Given the description of an element on the screen output the (x, y) to click on. 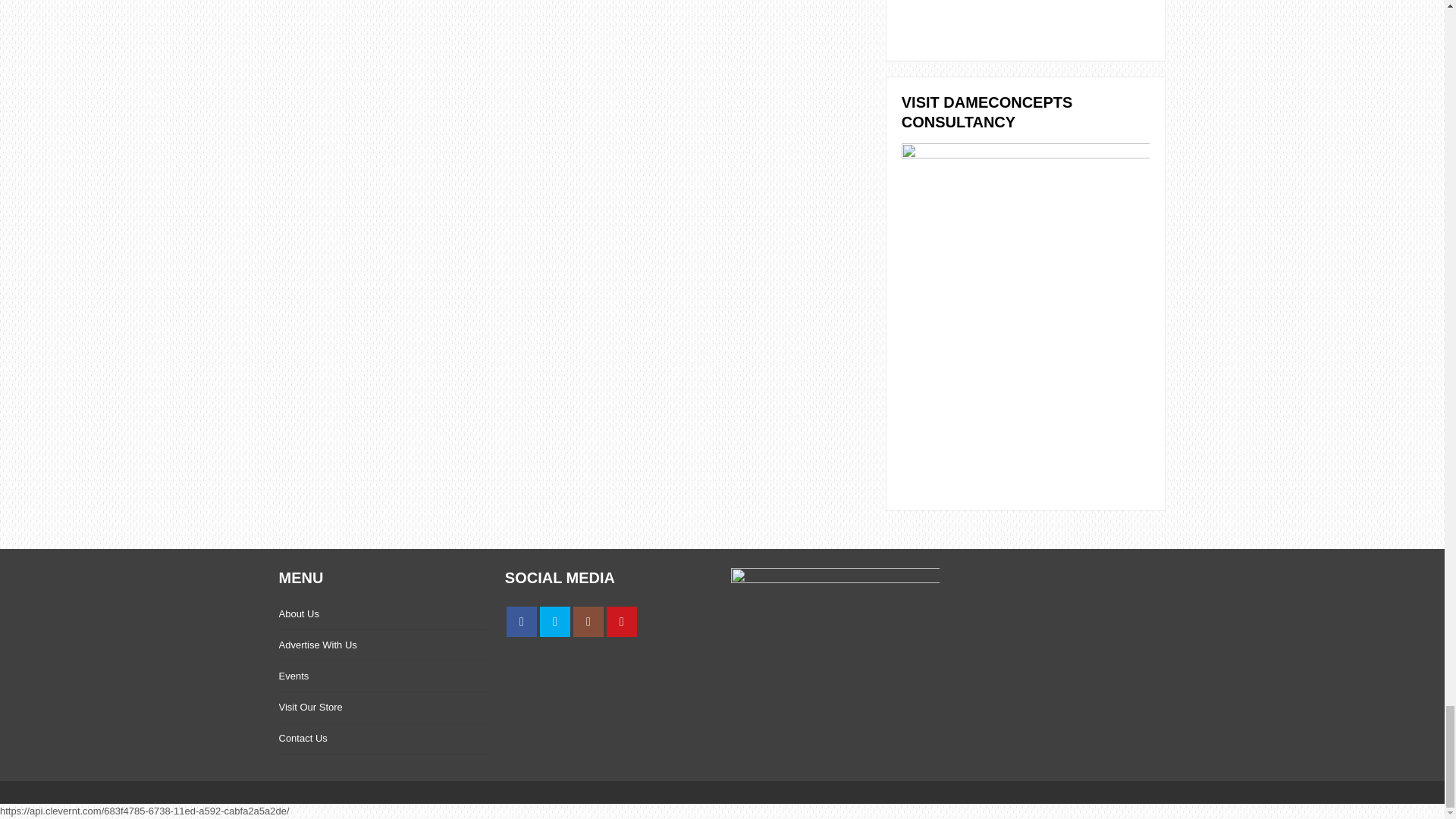
Advertise With Us (317, 644)
Visit Our Store (310, 706)
Contact Us (303, 737)
About Us (298, 613)
Events (293, 675)
